Given the description of an element on the screen output the (x, y) to click on. 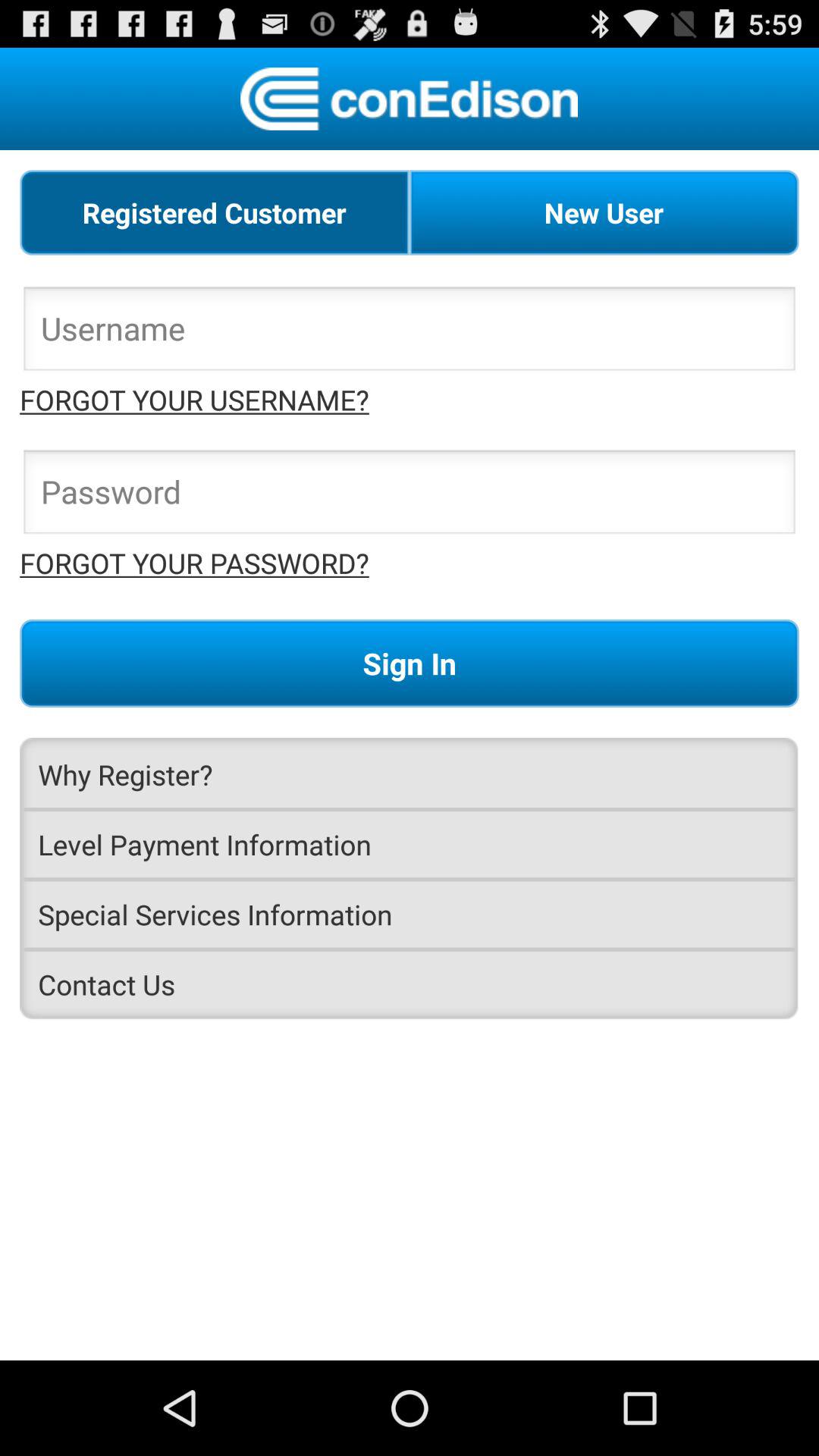
scroll to the registered customer (214, 212)
